Given the description of an element on the screen output the (x, y) to click on. 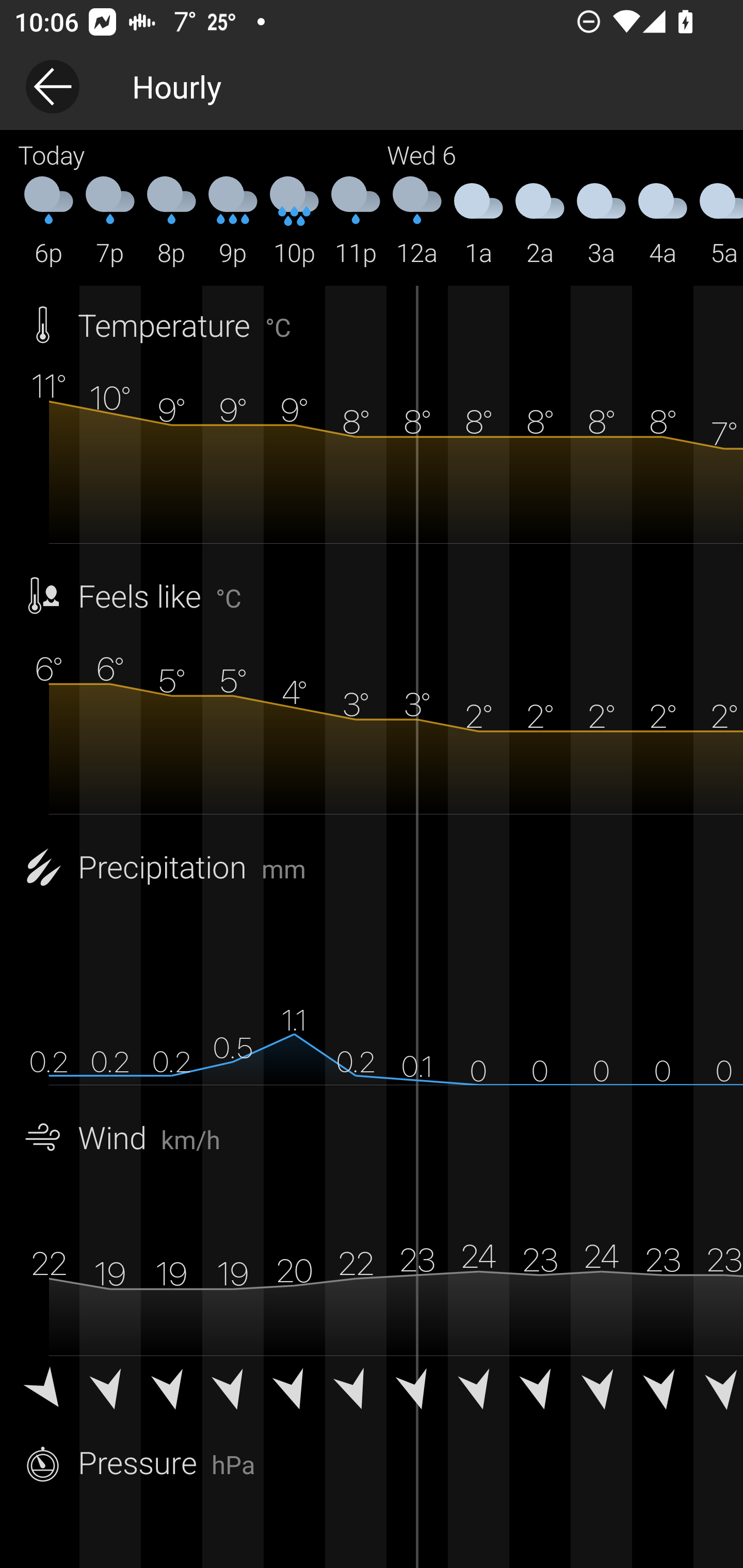
6p (48, 222)
7p (110, 222)
8p (171, 222)
9p (232, 222)
10p (294, 222)
11p (355, 222)
12a (417, 222)
1a (478, 222)
2a (539, 222)
3a (601, 222)
4a (662, 222)
5a (718, 222)
 (48, 1391)
 (110, 1391)
 (171, 1391)
 (232, 1391)
 (294, 1391)
 (355, 1391)
 (417, 1391)
 (478, 1391)
 (539, 1391)
 (601, 1391)
 (662, 1391)
 (718, 1391)
